Given the description of an element on the screen output the (x, y) to click on. 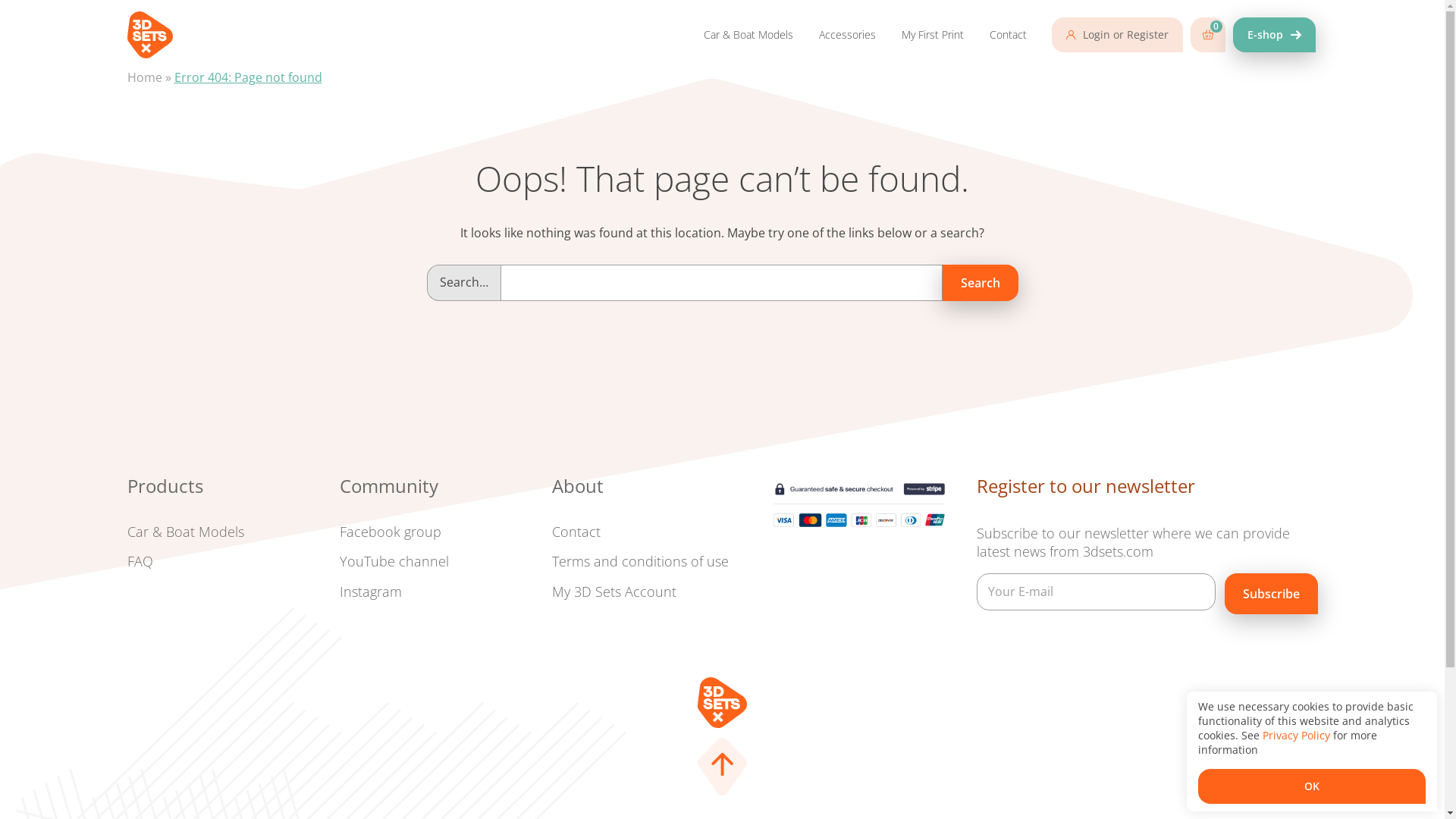
FAQ Element type: text (140, 561)
OK Element type: text (1311, 785)
Accessories Element type: text (846, 35)
Login or Register Element type: text (1116, 34)
YouTube channel Element type: text (393, 561)
0 Element type: text (1207, 34)
Car & Boat Models Element type: text (185, 531)
Privacy Policy Element type: text (1296, 735)
Contact Element type: text (1007, 35)
Subscribe Element type: text (1270, 593)
My 3D Sets Account Element type: text (614, 591)
Search Element type: text (979, 282)
Terms and conditions of use Element type: text (640, 561)
Contact Element type: text (576, 531)
Facebook group Element type: text (390, 531)
Home Element type: text (144, 77)
Car & Boat Models Element type: text (747, 35)
My First Print Element type: text (932, 35)
Instagram Element type: text (370, 591)
E-shop Element type: text (1274, 34)
